Given the description of an element on the screen output the (x, y) to click on. 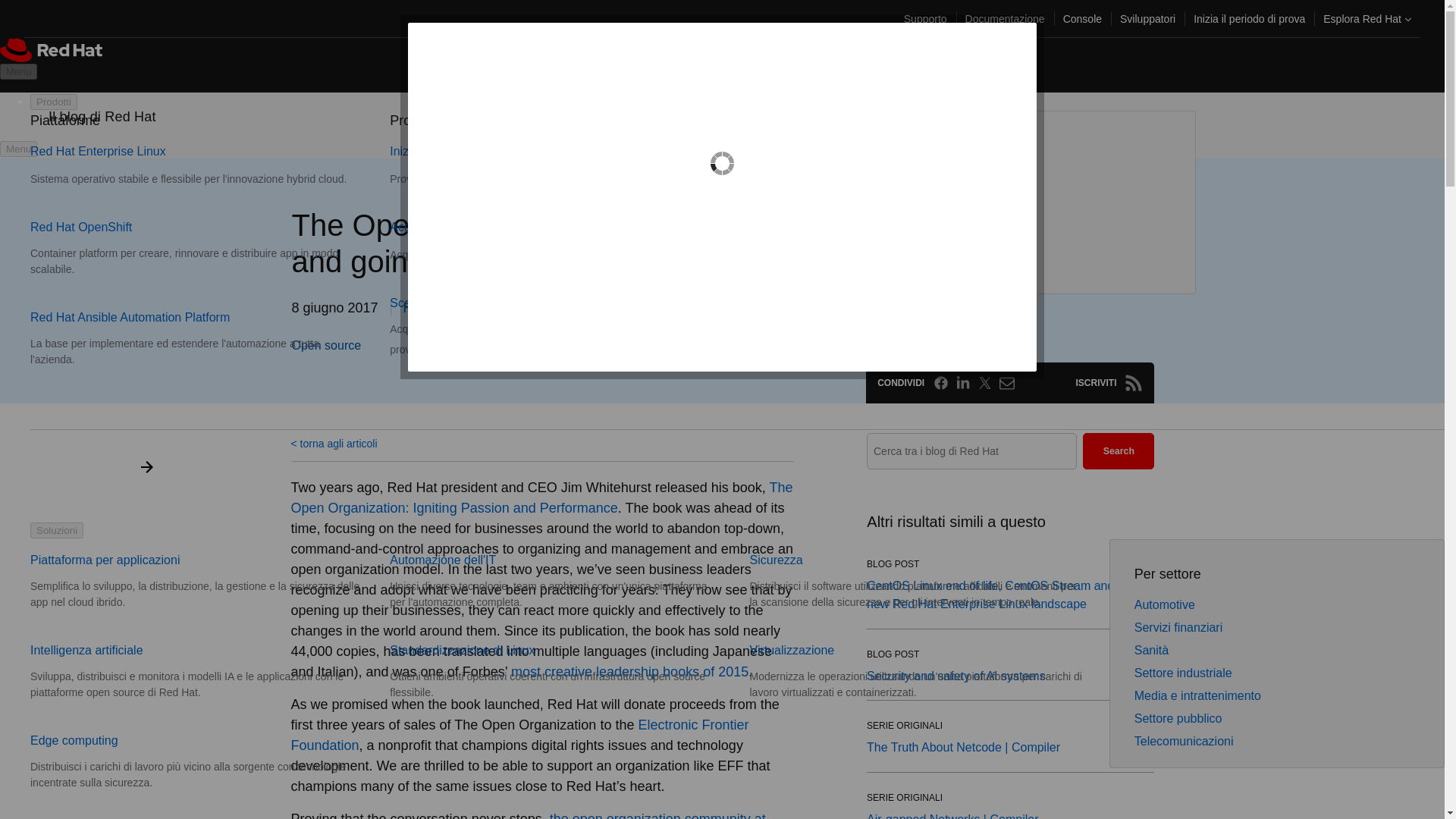
Sviluppatori (1147, 18)
Console (1082, 18)
Supporto (925, 18)
See more by Red Hat (427, 307)
Inizia il periodo di prova (1249, 18)
Inizia il periodo di provaProva gratuitamente un prodotto. (531, 165)
Documentazione (1005, 18)
Iscriviti (1132, 382)
